Given the description of an element on the screen output the (x, y) to click on. 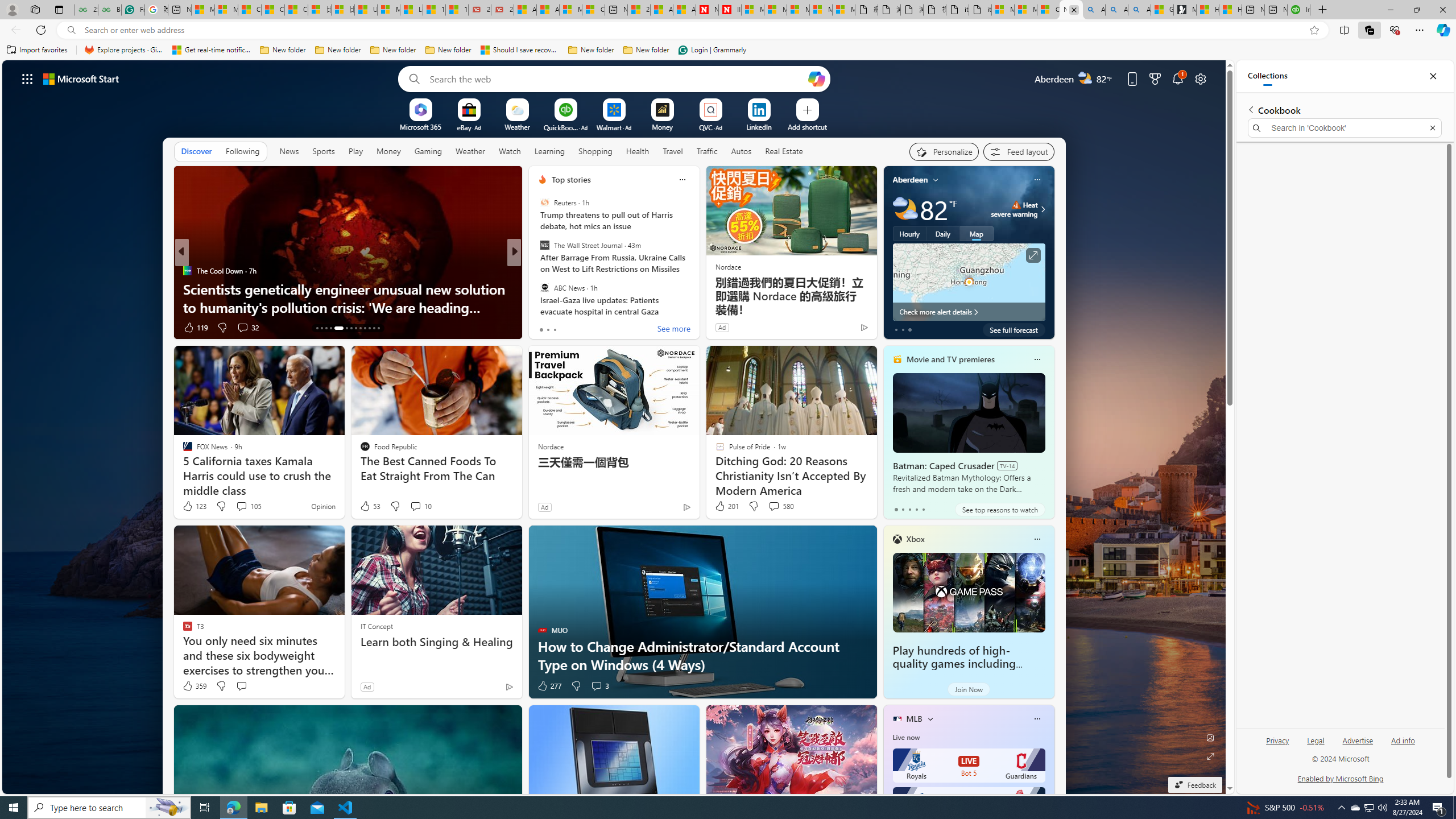
AutomationID: tab-19 (350, 328)
Xbox (914, 538)
AutomationID: tab-13 (317, 328)
Personalize your feed" (943, 151)
View comments 105 Comment (248, 505)
Partly cloudy (904, 208)
Partly cloudy (904, 208)
See top reasons to watch (999, 509)
View comments 10 Comment (414, 505)
